Given the description of an element on the screen output the (x, y) to click on. 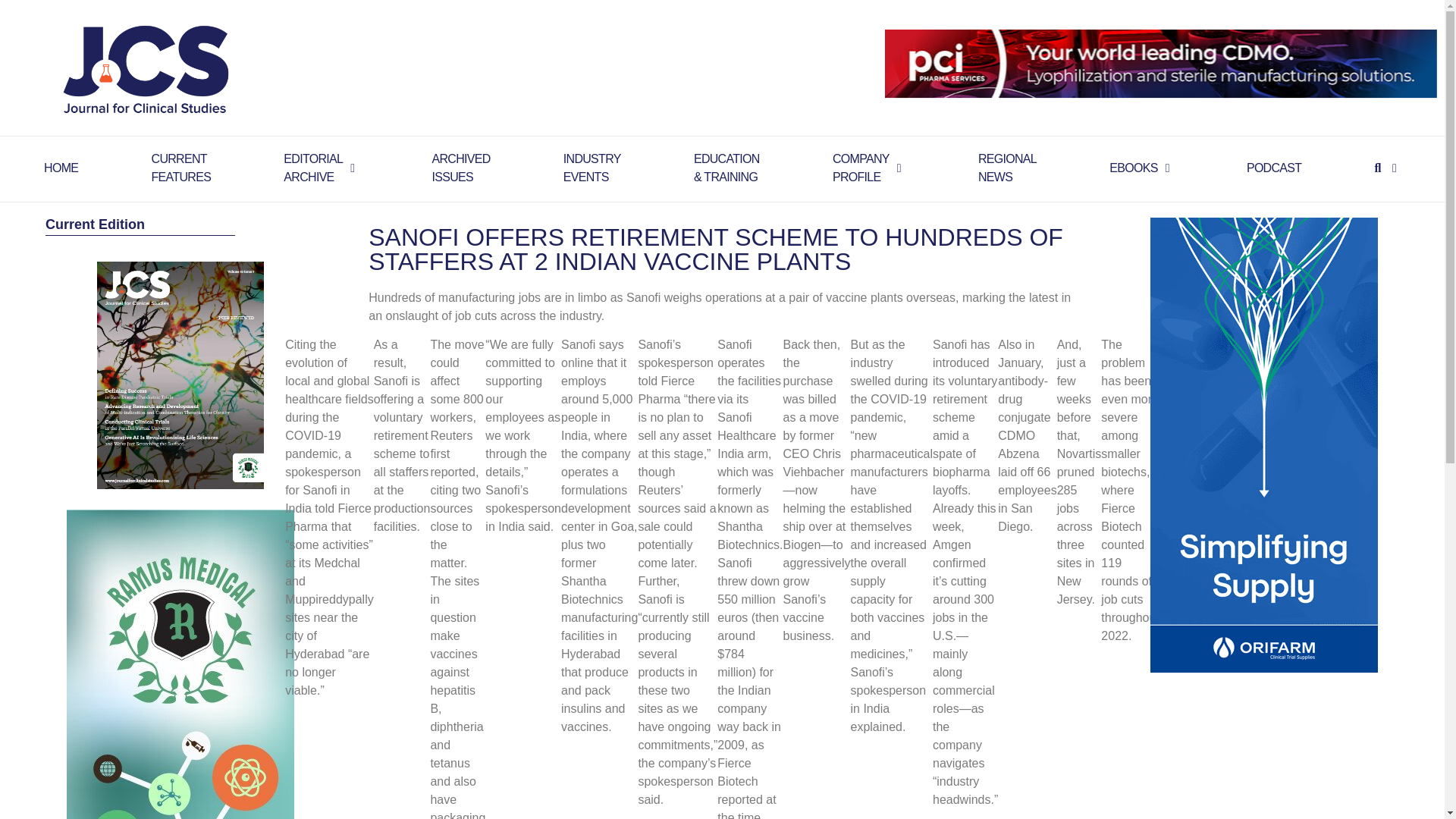
HOME (181, 167)
PODCAST (1007, 167)
